Given the description of an element on the screen output the (x, y) to click on. 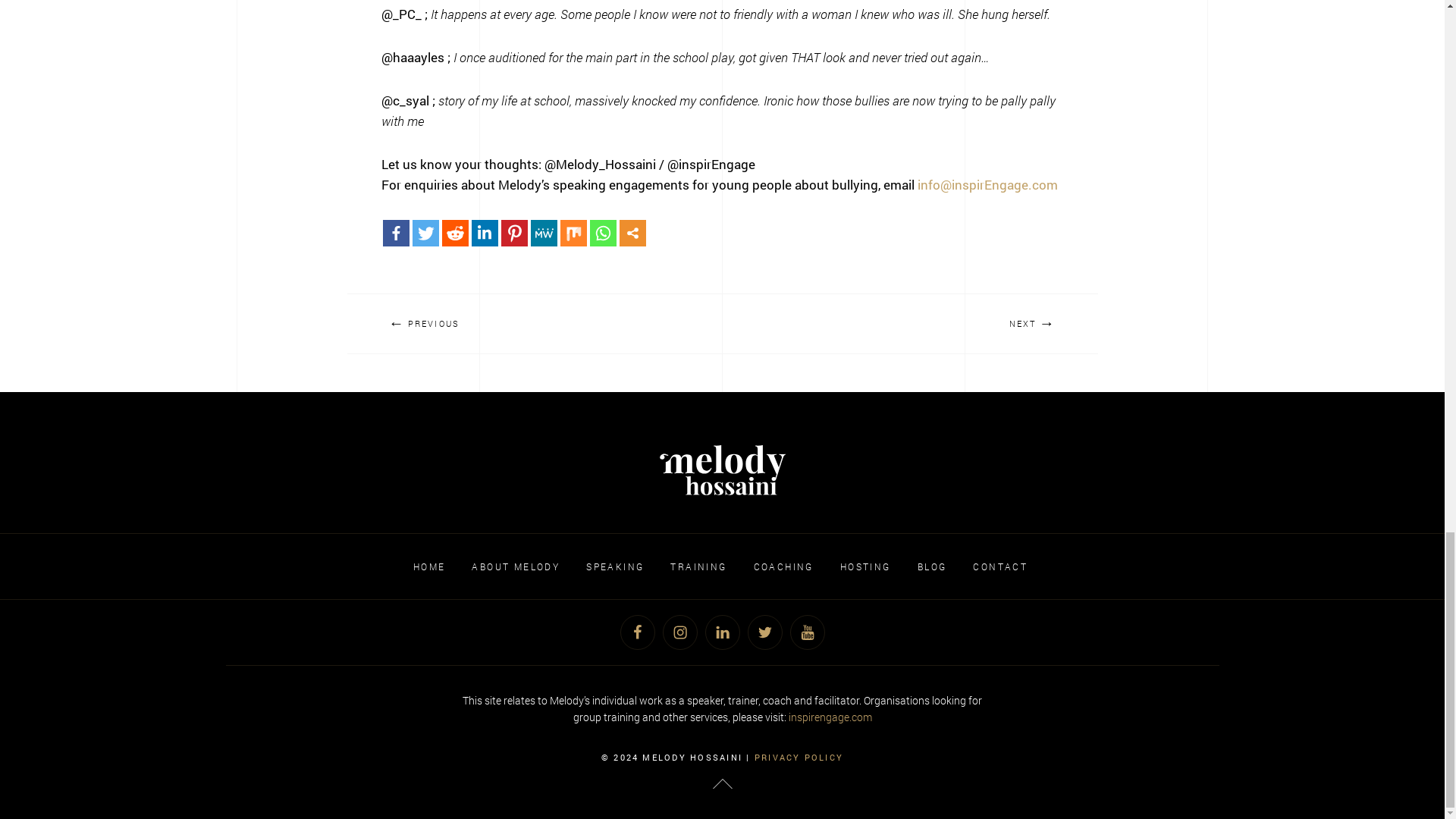
Linkedin (484, 233)
Reddit (454, 233)
Melody HossainiMelody Hossaini logo (722, 470)
Facebook (395, 233)
Twitter (425, 233)
